Given the description of an element on the screen output the (x, y) to click on. 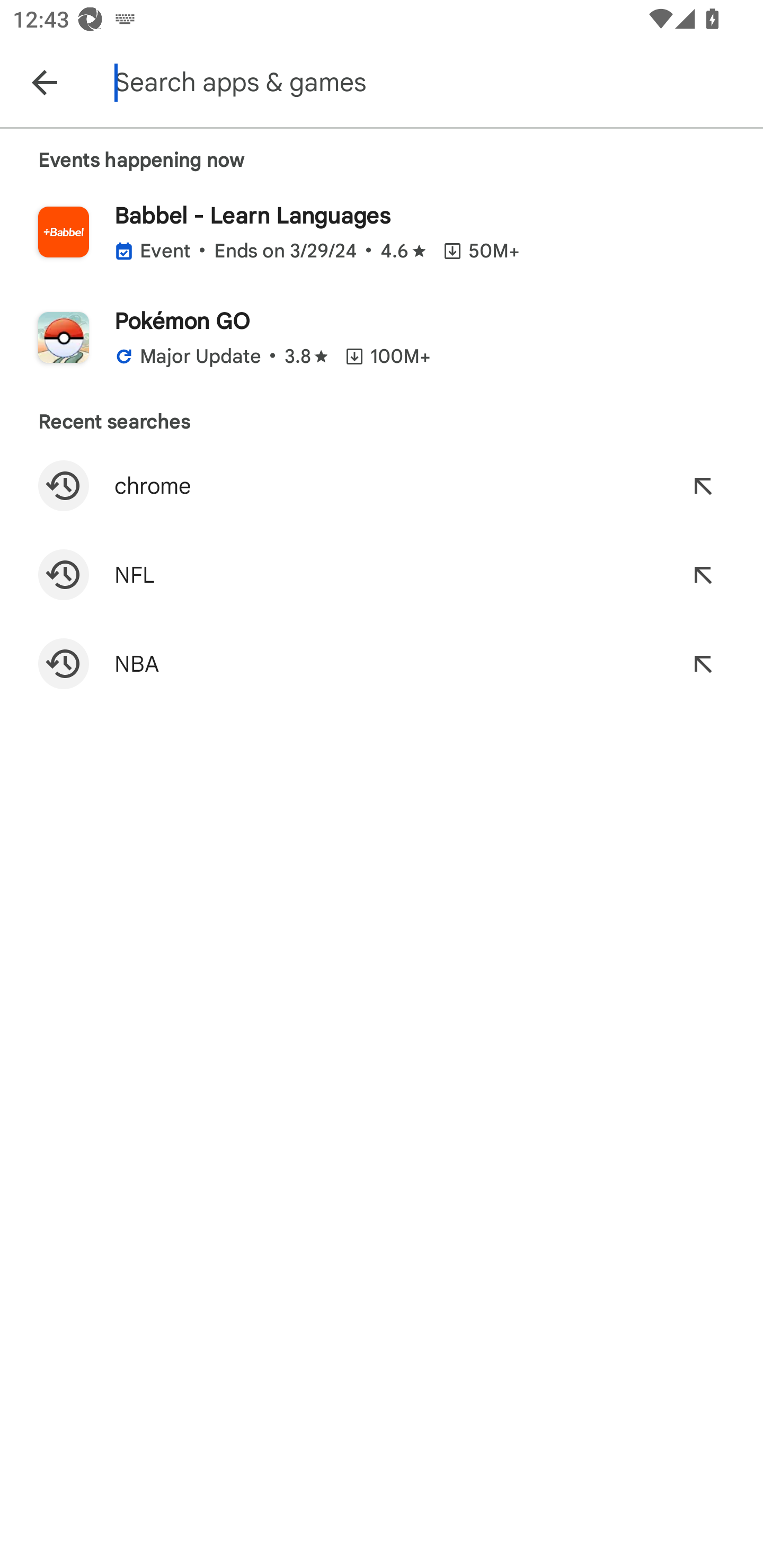
Navigate up (44, 81)
Search apps & games (435, 81)
Search for "chrome"  Refine search to "chrome" (381, 484)
Refine search to "chrome" (702, 484)
Search for "NFL"  Refine search to "NFL" (381, 574)
Refine search to "NFL" (702, 574)
Search for "NBA"  Refine search to "NBA" (381, 663)
Refine search to "NBA" (702, 663)
